Given the description of an element on the screen output the (x, y) to click on. 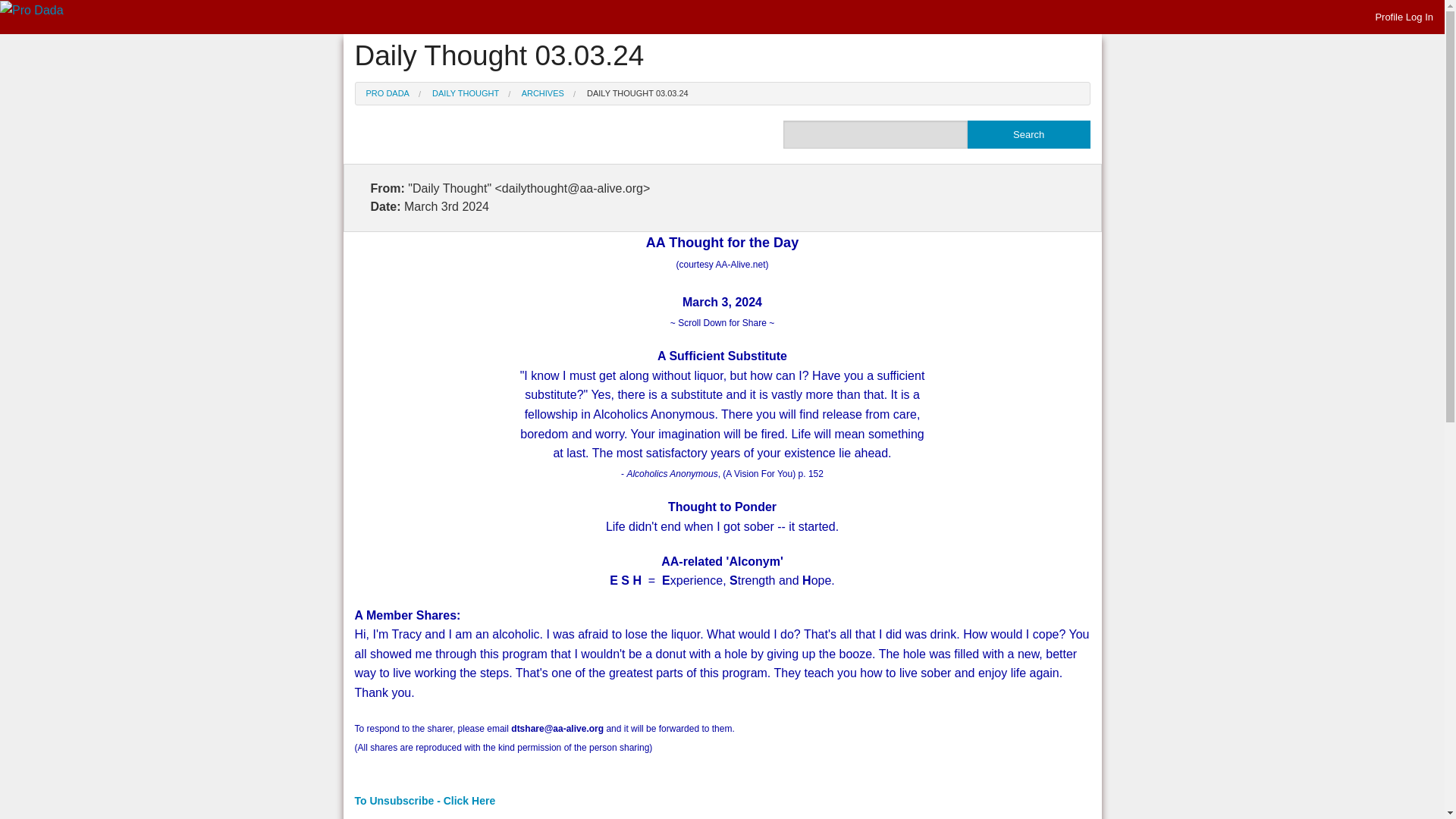
Search (1029, 134)
ARCHIVES (542, 92)
DAILY THOUGHT 03.03.24 (637, 92)
PRO DADA (387, 92)
To Unsubscribe - Click Here (425, 800)
Search (1029, 134)
Pro Dada (32, 10)
DAILY THOUGHT (465, 92)
